Given the description of an element on the screen output the (x, y) to click on. 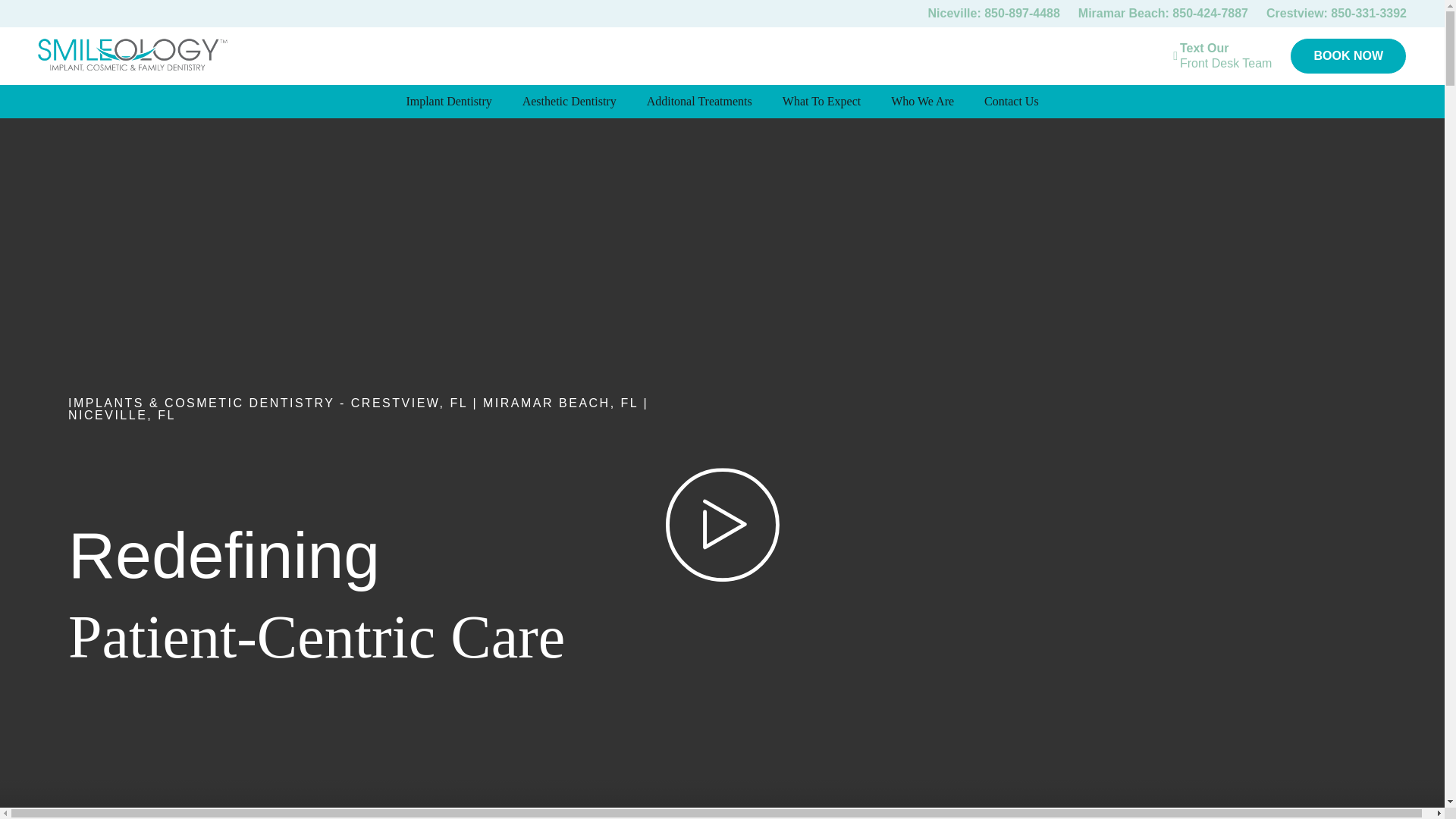
Miramar Beach: 850-424-7887 (1162, 12)
Niceville: 850-897-4488 (993, 12)
Additonal Treatments (699, 101)
What To Expect (821, 101)
Implant Dentistry (448, 101)
Crestview: 850-331-3392 (1336, 12)
Aesthetic Dentistry (568, 101)
BOOK NOW (1225, 55)
